Given the description of an element on the screen output the (x, y) to click on. 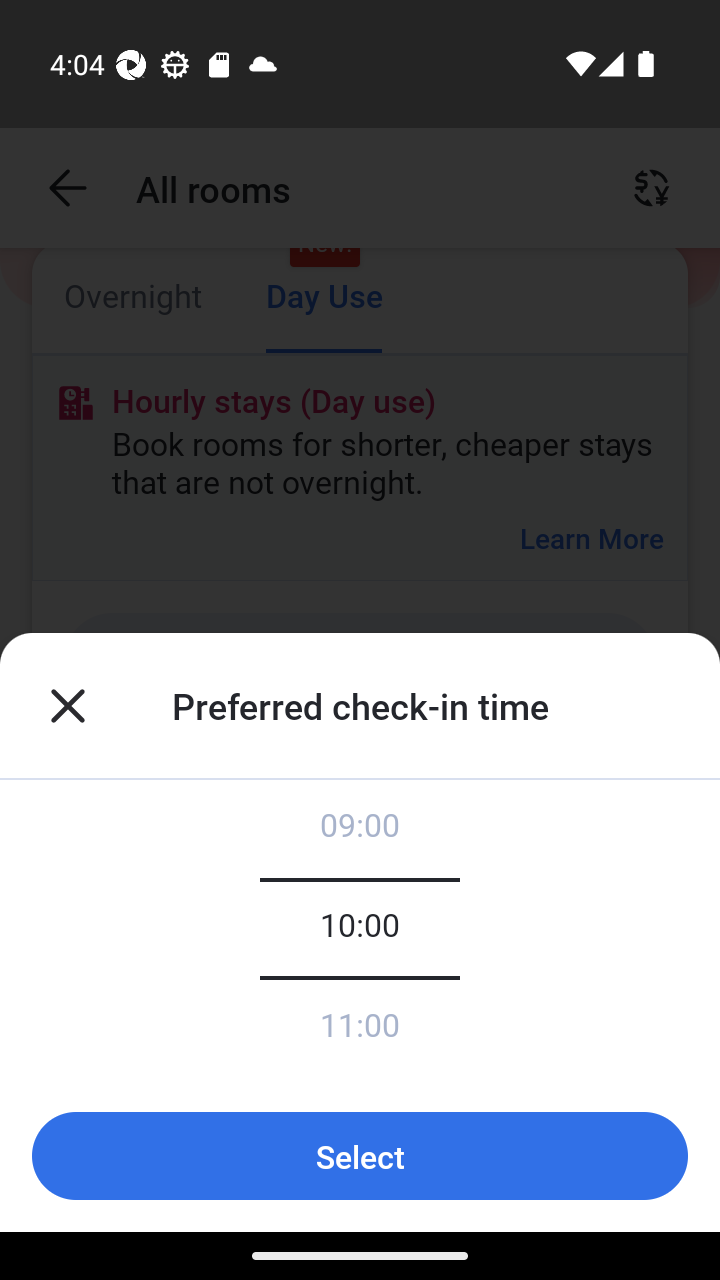
1 room 2 adults (359, 900)
Search (415, 1033)
Select (359, 1156)
